Given the description of an element on the screen output the (x, y) to click on. 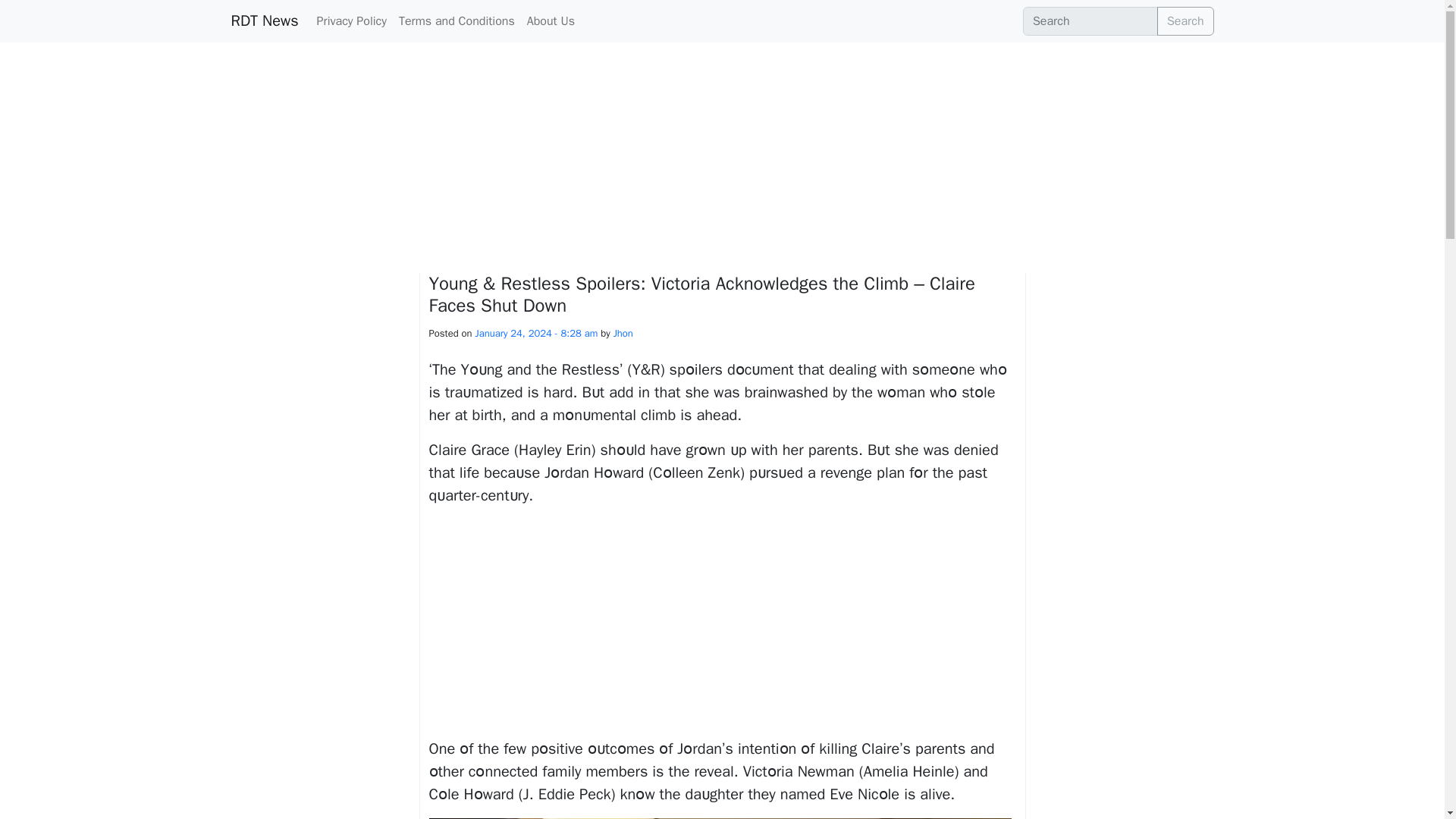
About Us (550, 20)
About Us (550, 20)
Advertisement (722, 625)
RDT News (264, 20)
Jhon (622, 332)
January 24, 2024 - 8:28 am (537, 332)
View all posts by Jhon (622, 332)
Terms and Conditions (457, 20)
Terms and Conditions (457, 20)
January 24, 2024 - 8:28 am (537, 332)
